Given the description of an element on the screen output the (x, y) to click on. 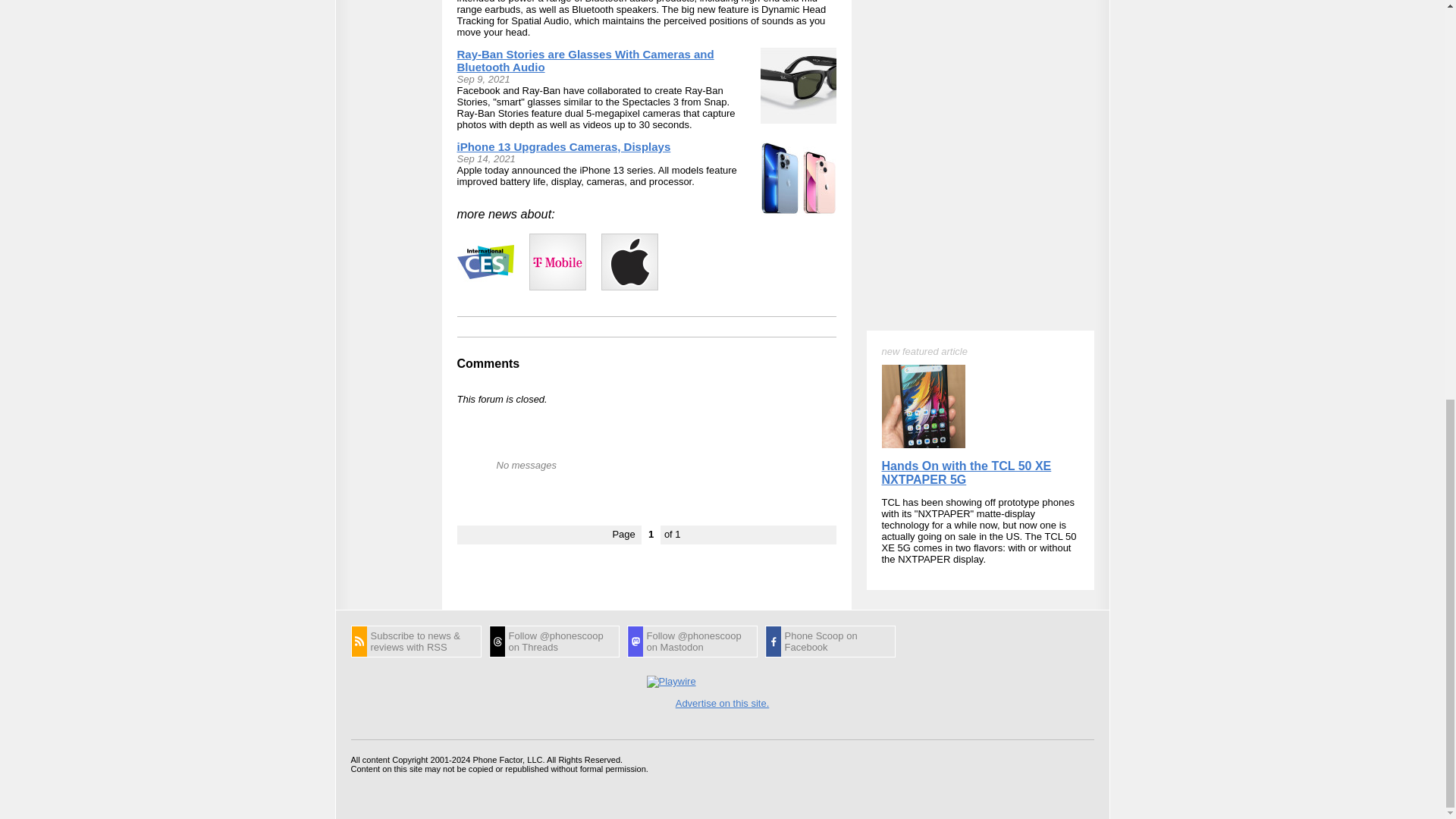
Comments (488, 363)
Hands On with the TCL 50 XE NXTPAPER 5G (965, 130)
CES 2012 (485, 261)
Phone Scoop - Latest News (415, 641)
Apple (628, 261)
T-Mobile (557, 261)
